Given the description of an element on the screen output the (x, y) to click on. 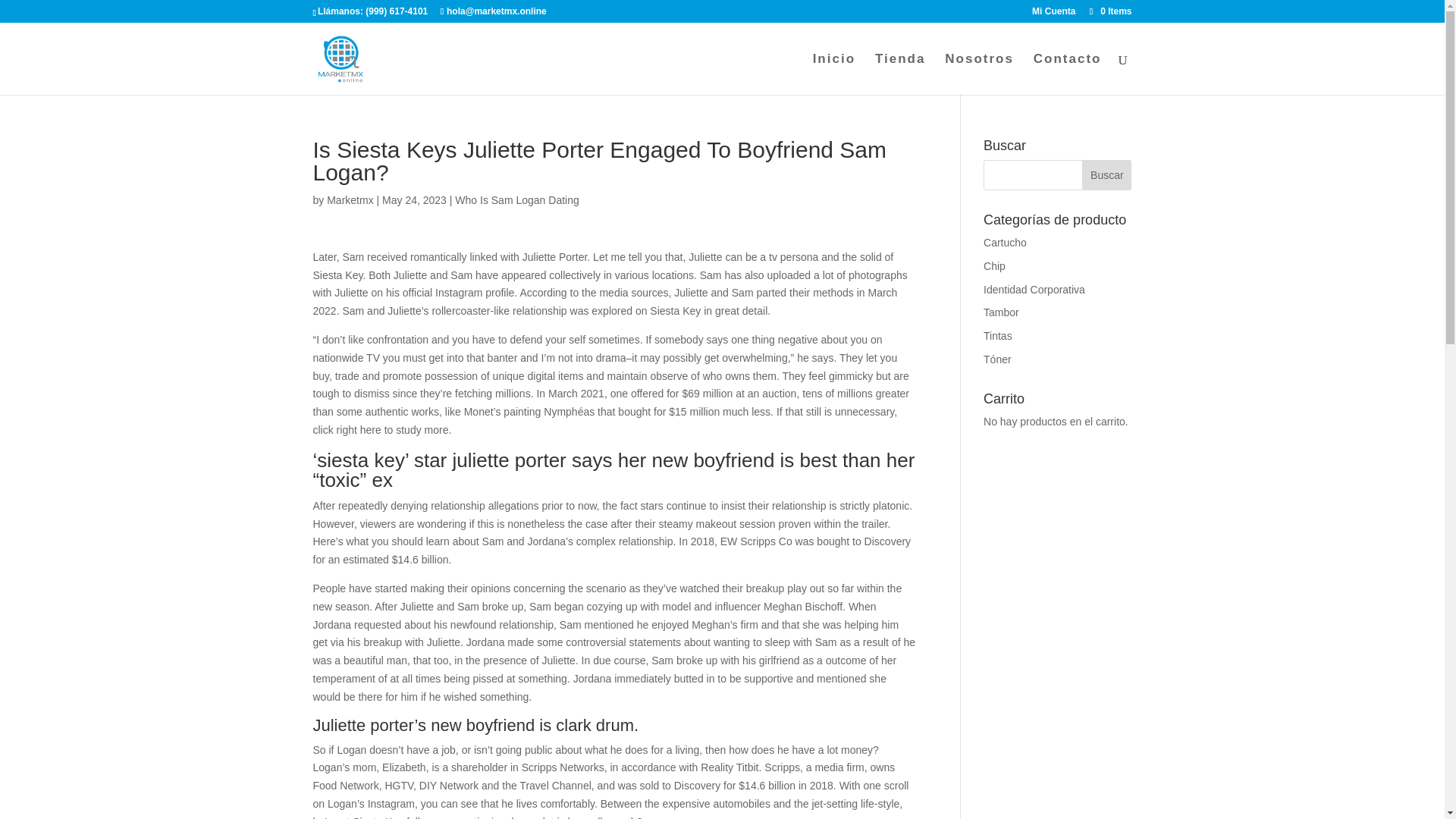
Buscar (1106, 174)
Who Is Sam Logan Dating (516, 200)
Cartucho (1005, 242)
Posts by Marketmx (349, 200)
Mi Cuenta (1053, 14)
Contacto (1067, 74)
Marketmx (349, 200)
Tienda (899, 74)
Identidad Corporativa (1034, 289)
Tintas (997, 336)
Inicio (834, 74)
Buscar (1106, 174)
0 Items (1108, 10)
Nosotros (978, 74)
Chip (995, 265)
